Given the description of an element on the screen output the (x, y) to click on. 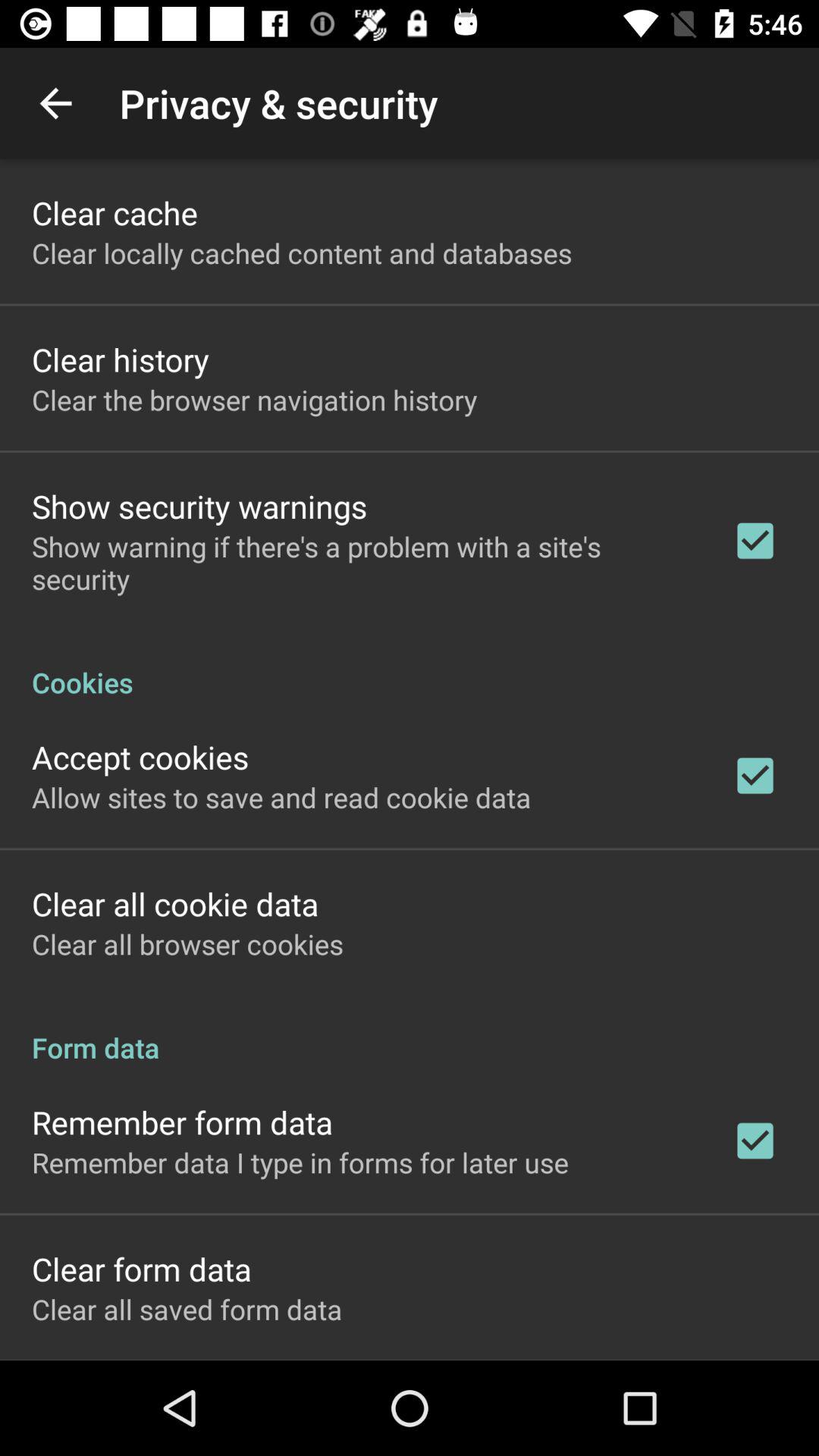
choose the item above the allow sites to app (140, 756)
